Given the description of an element on the screen output the (x, y) to click on. 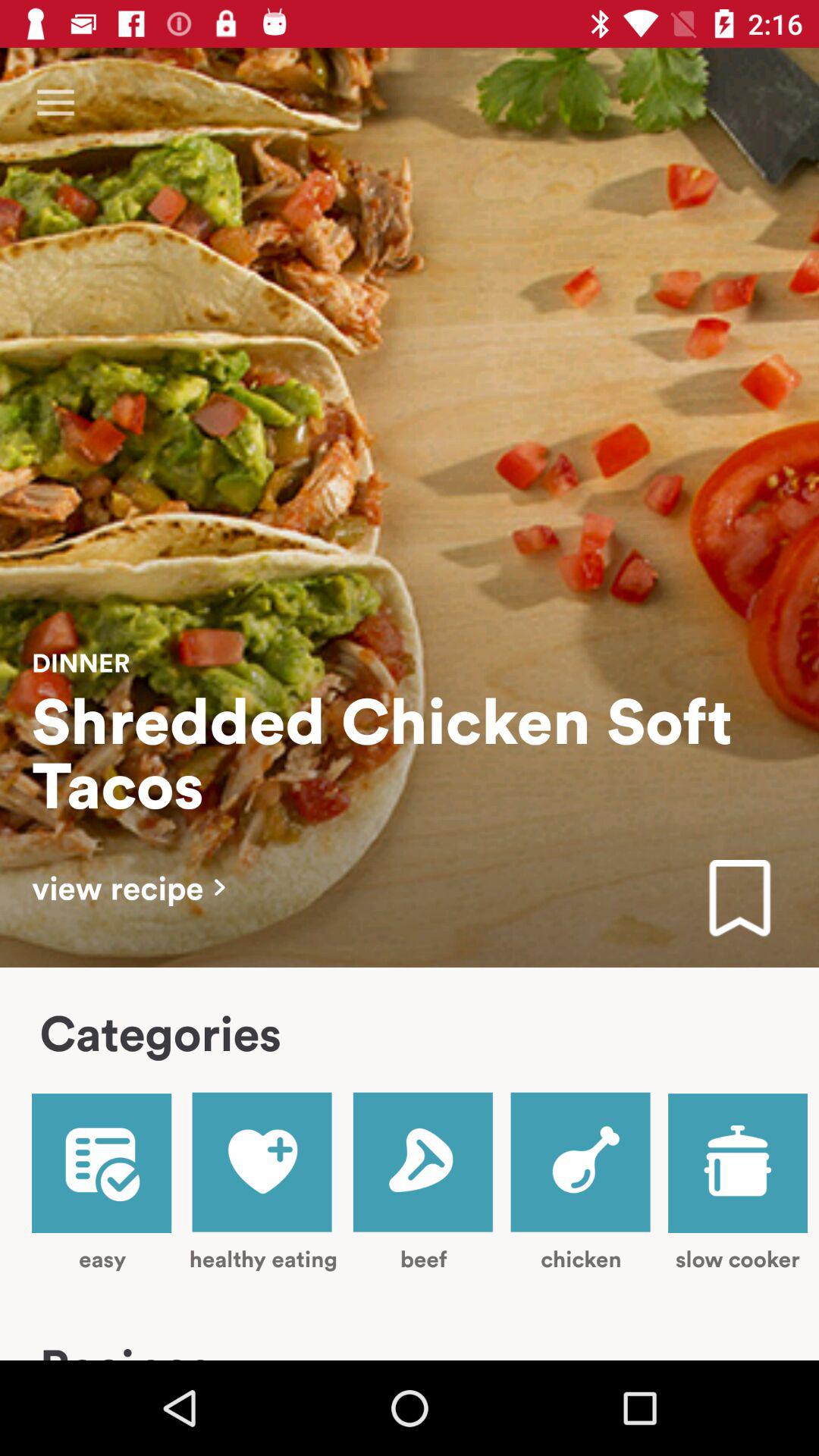
turn on the item below categories item (102, 1182)
